Given the description of an element on the screen output the (x, y) to click on. 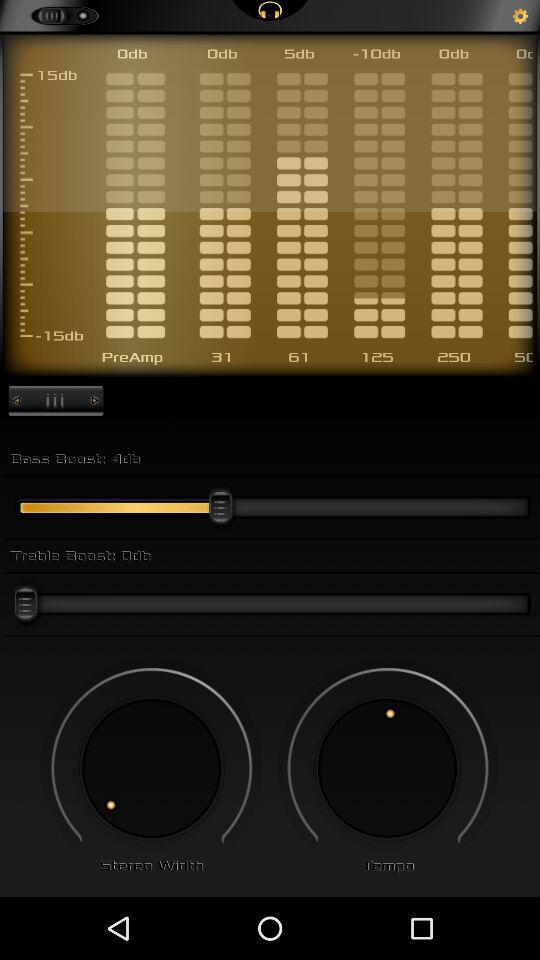
switch the speeker (387, 768)
